Given the description of an element on the screen output the (x, y) to click on. 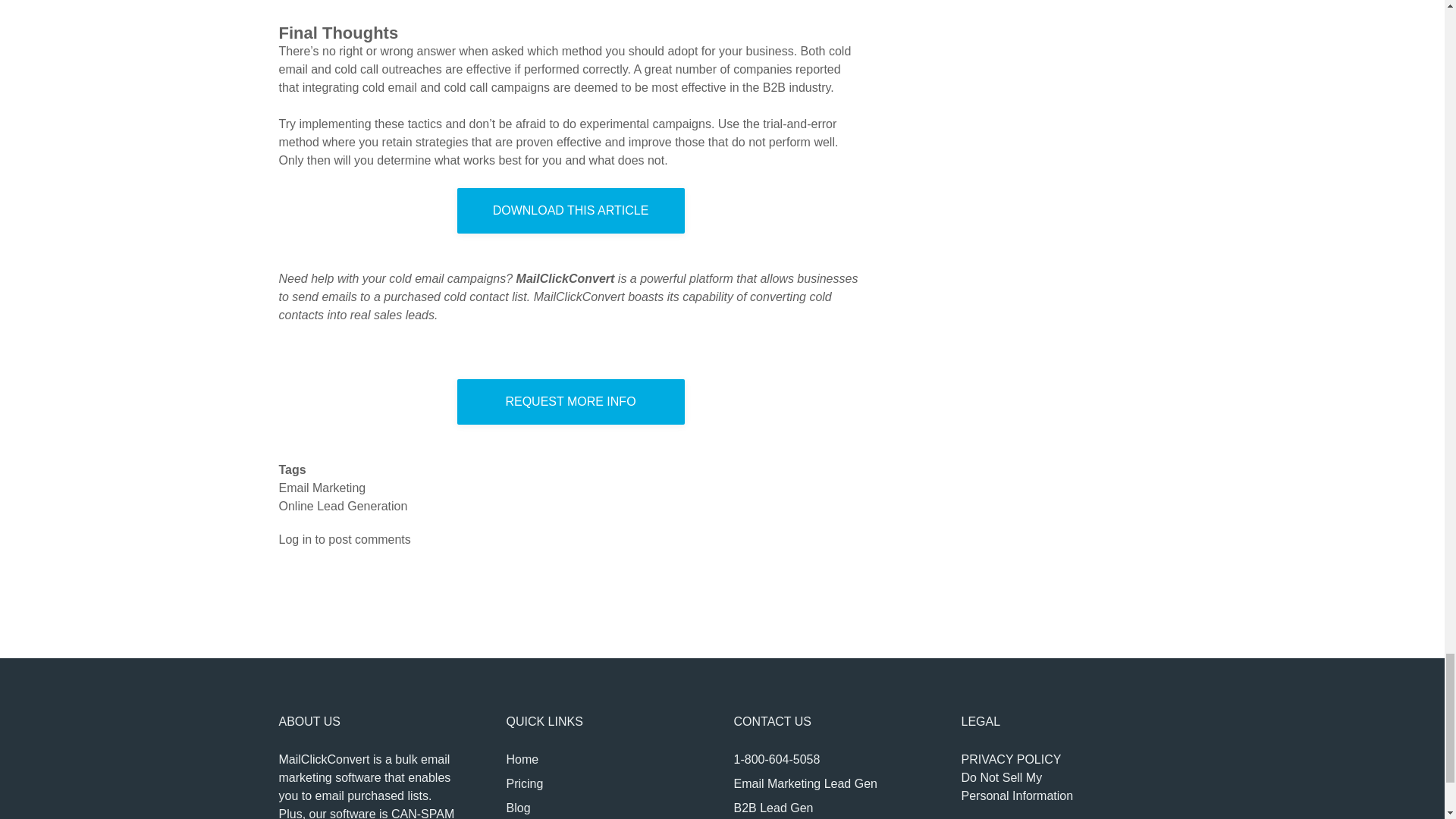
Email Marketing (322, 487)
Blog (518, 807)
1-800-604-5058 (777, 758)
B2B Lead Gen (773, 807)
REQUEST MORE INFO (570, 402)
Pricing (524, 783)
PRIVACY POLICY (1017, 786)
DOWNLOAD THIS ARTICLE (1010, 758)
Online Lead Generation (570, 210)
